Given the description of an element on the screen output the (x, y) to click on. 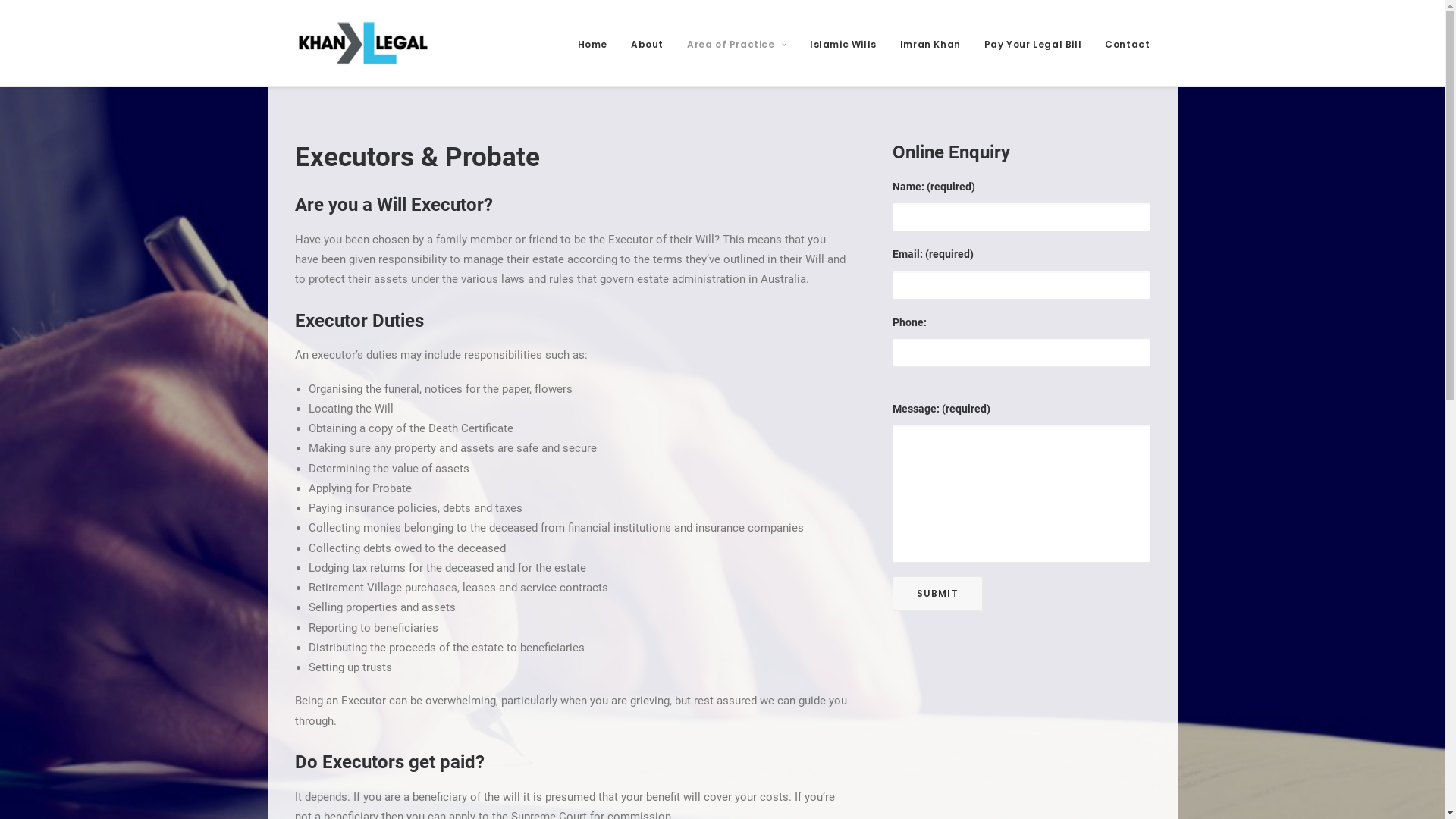
Imran Khan Element type: text (930, 43)
Area of Practice Element type: text (736, 43)
Pay Your Legal Bill Element type: text (1032, 43)
Islamic Wills Element type: text (843, 43)
Home Element type: text (597, 43)
About Element type: text (647, 43)
Contact Element type: text (1121, 43)
SUBMIT Element type: text (936, 593)
